Given the description of an element on the screen output the (x, y) to click on. 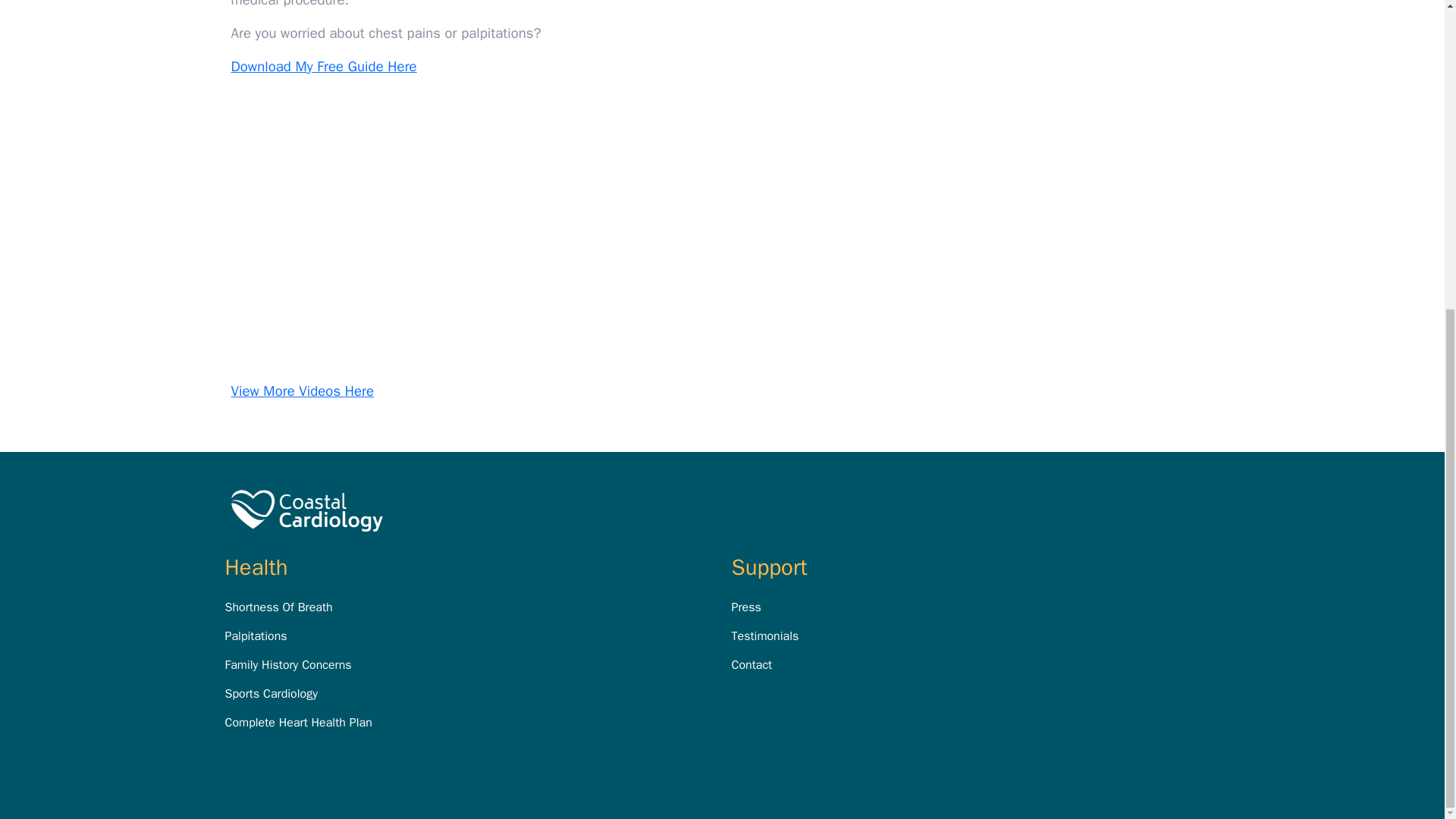
Family History Concerns (287, 664)
Contact (750, 664)
Sports Cardiology (270, 693)
Palpitations (255, 635)
Testimonials (763, 635)
Complete Heart Health Plan (297, 722)
View More Videos Here (302, 391)
Press (745, 607)
Download My Free Guide Here (323, 66)
